Given the description of an element on the screen output the (x, y) to click on. 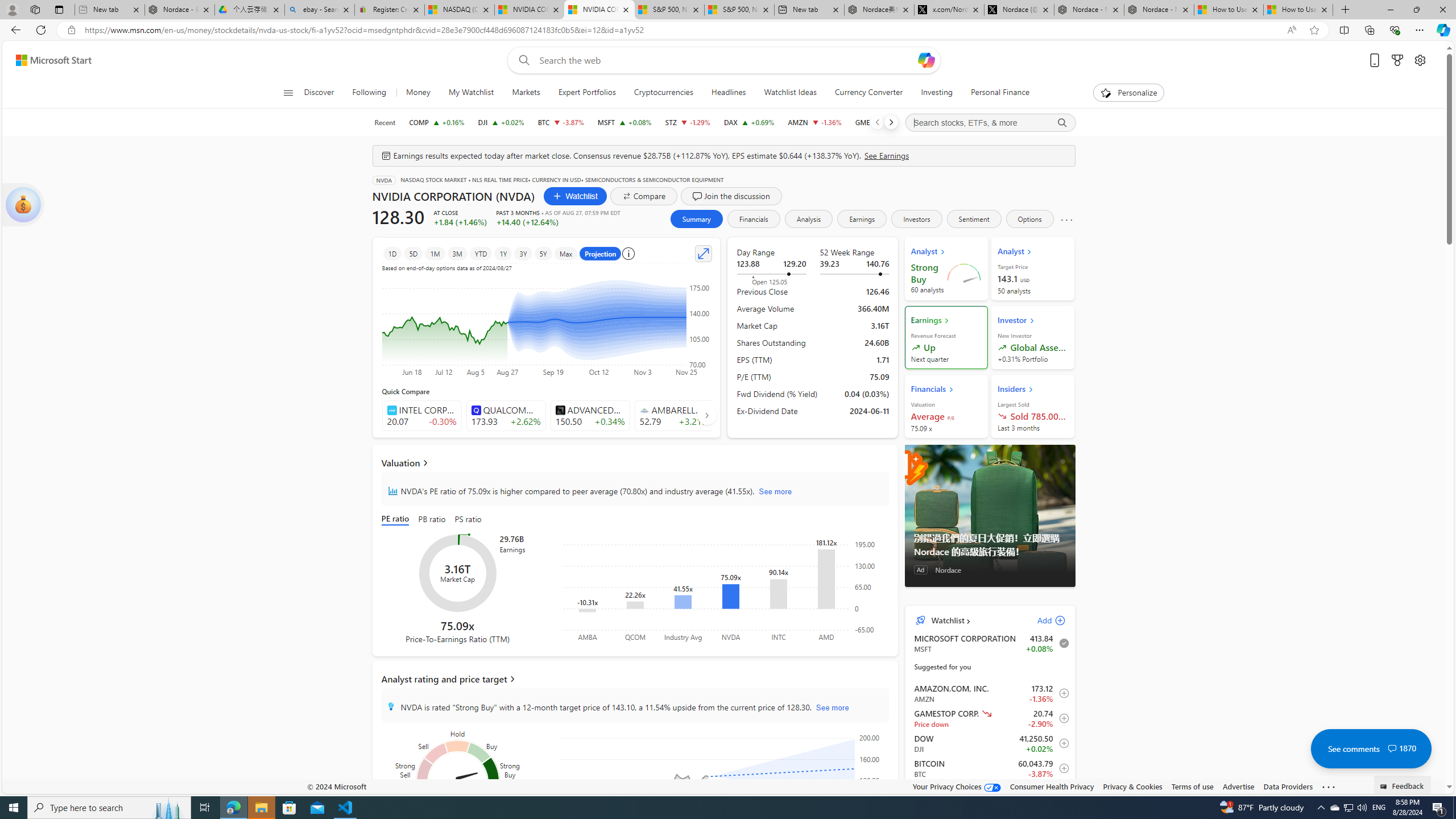
DJI DOW increase 41,250.50 +9.98 +0.02% item2 (989, 742)
Max (565, 253)
Add to Watchlist (1061, 793)
Watchlist Ideas (790, 92)
DJI DOW increase 41,250.50 +9.98 +0.02% (500, 122)
PB ratio (431, 520)
1M (435, 253)
show card (22, 204)
